Given the description of an element on the screen output the (x, y) to click on. 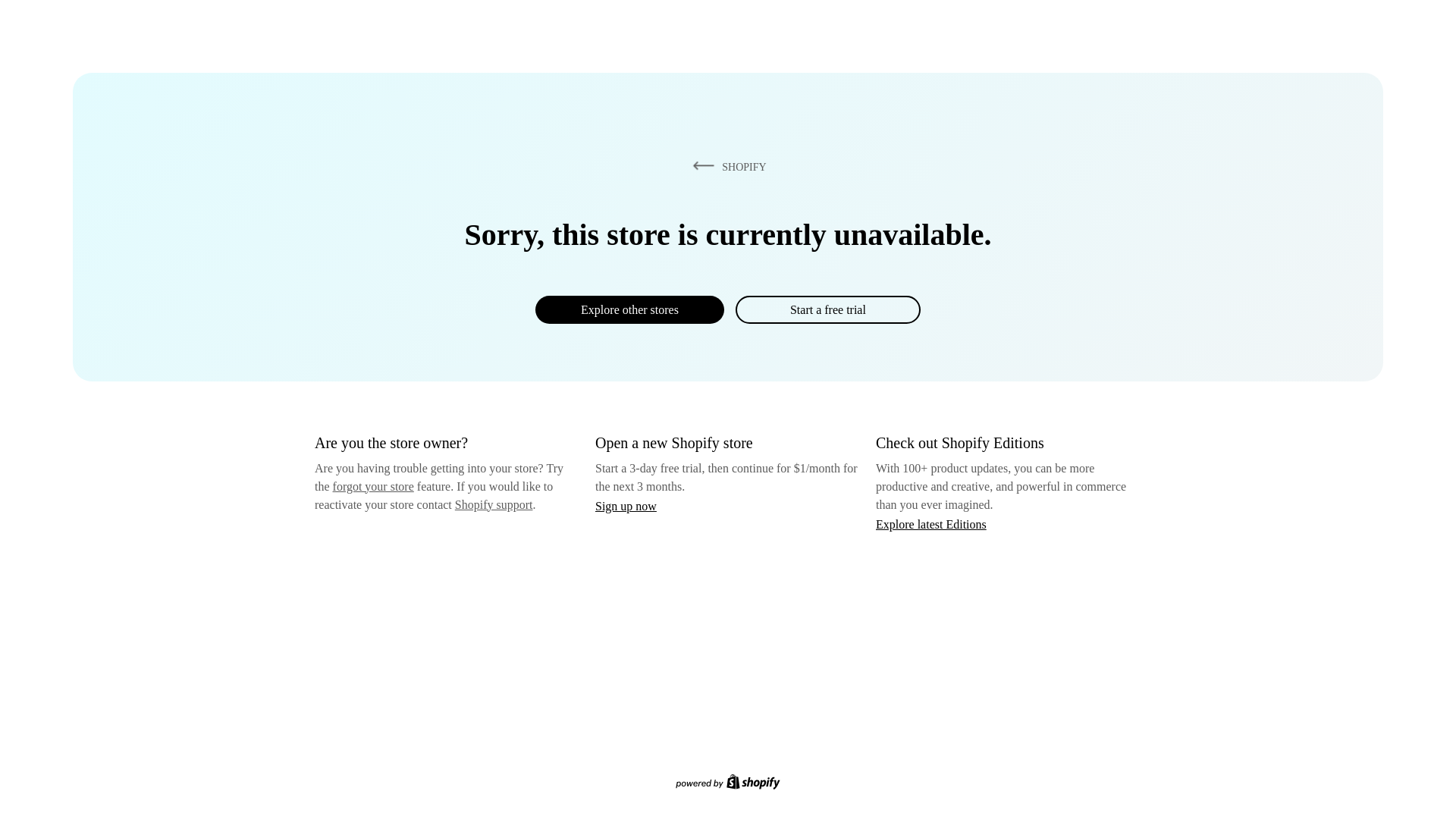
Explore latest Editions (931, 523)
Explore other stores (629, 309)
SHOPIFY (726, 166)
Shopify support (493, 504)
Sign up now (625, 505)
forgot your store (373, 486)
Start a free trial (827, 309)
